Given the description of an element on the screen output the (x, y) to click on. 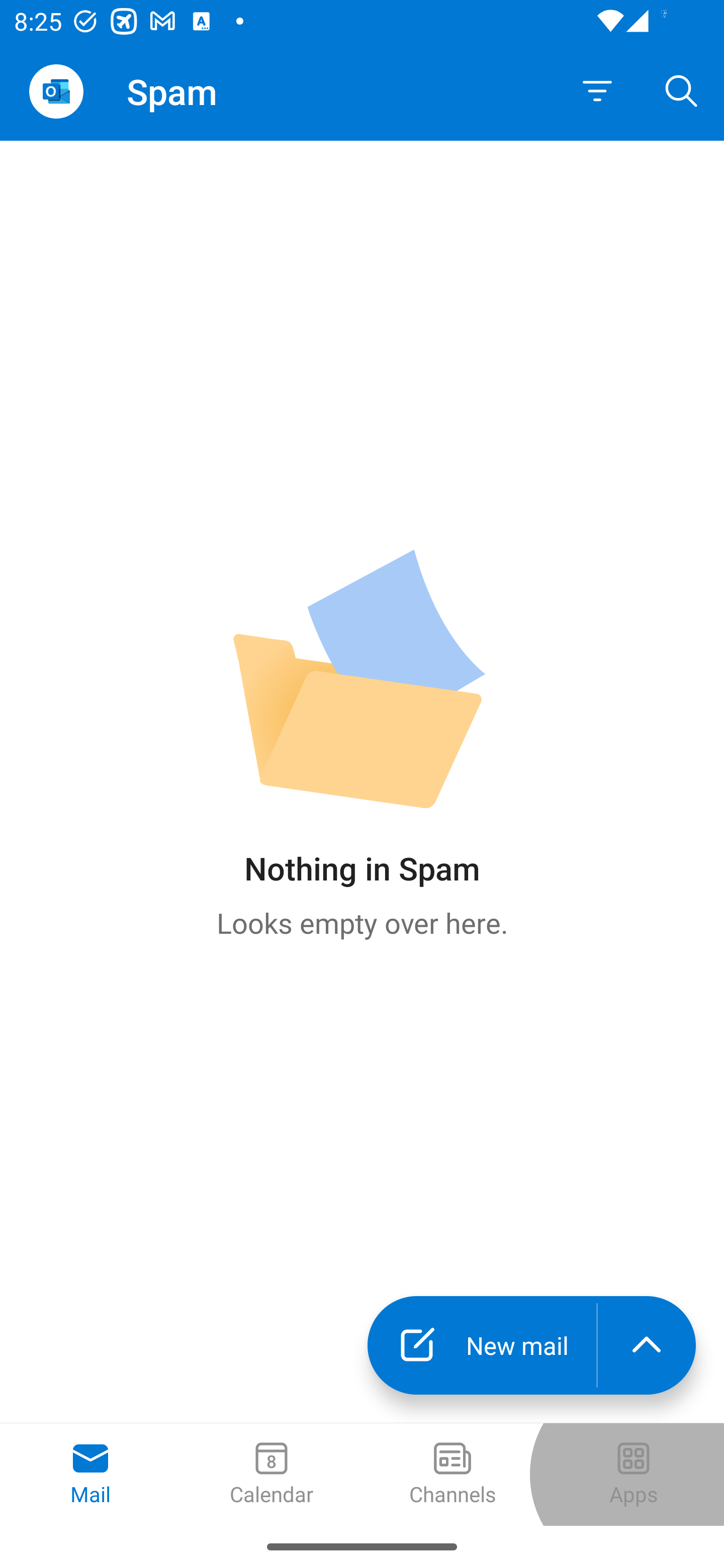
Search, ,  (681, 90)
Open Navigation Drawer (55, 91)
Filter (597, 91)
New mail (481, 1344)
launch the extended action menu (646, 1344)
Calendar (271, 1474)
Channels (452, 1474)
Apps (633, 1474)
